Given the description of an element on the screen output the (x, y) to click on. 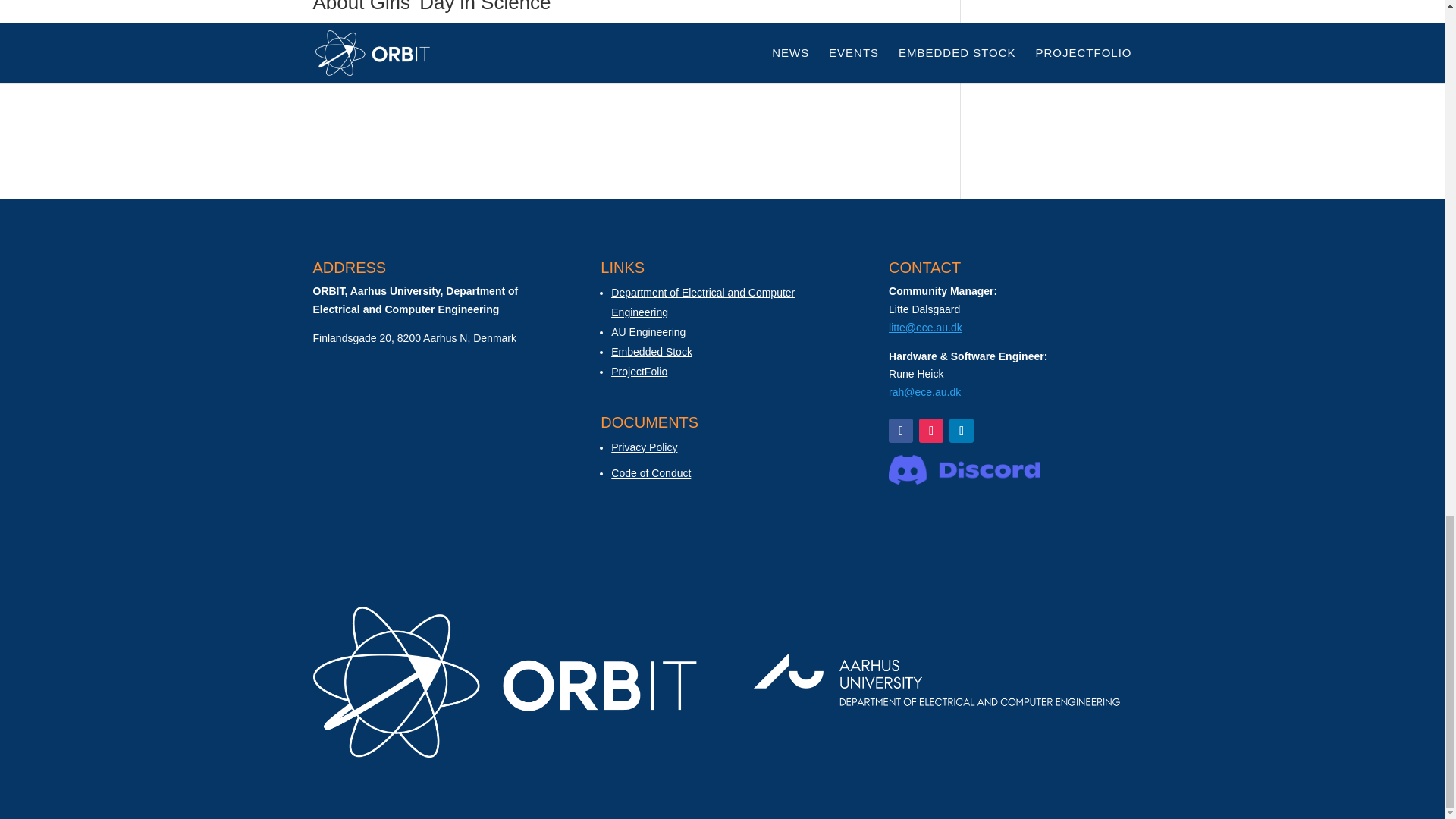
Department of Electrical and Computer Engineering (702, 302)
Follow on Facebook (900, 430)
AU Engineering (648, 331)
Discord-LogoWordmark-Color (964, 469)
ECE-EN-hvid (937, 681)
Follow on Instagram (930, 430)
ProjectFolio (638, 371)
Embedded Stock (652, 351)
Follow on LinkedIn (961, 430)
